Given the description of an element on the screen output the (x, y) to click on. 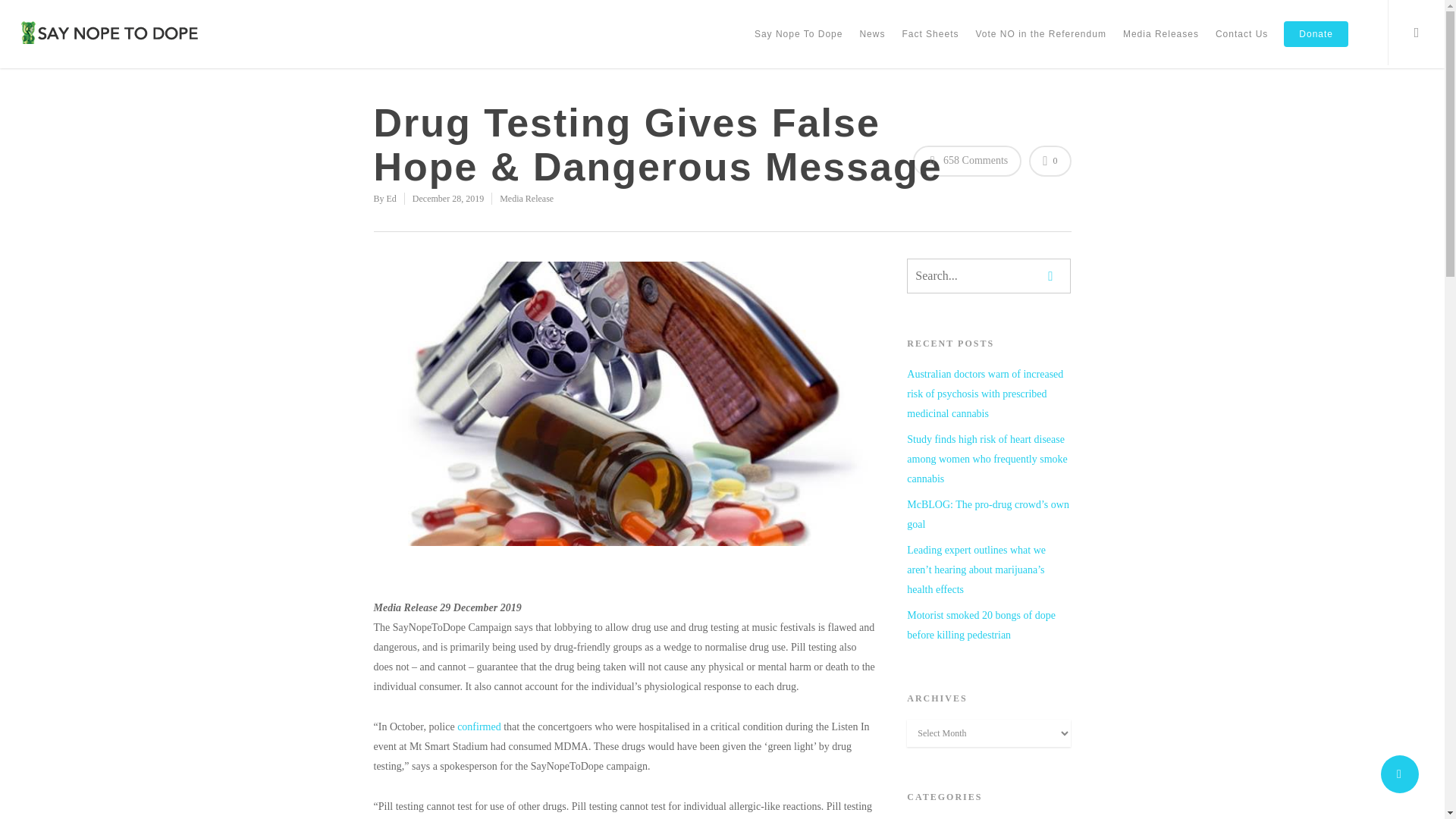
Vote NO in the Referendum (1040, 44)
Posts by Ed (391, 198)
Ed (391, 198)
Contact Us (1241, 44)
Motorist smoked 20 bongs of dope before killing pedestrian (988, 625)
Search for: (988, 275)
confirmed (478, 726)
658 Comments (967, 160)
Love this (1049, 160)
